Given the description of an element on the screen output the (x, y) to click on. 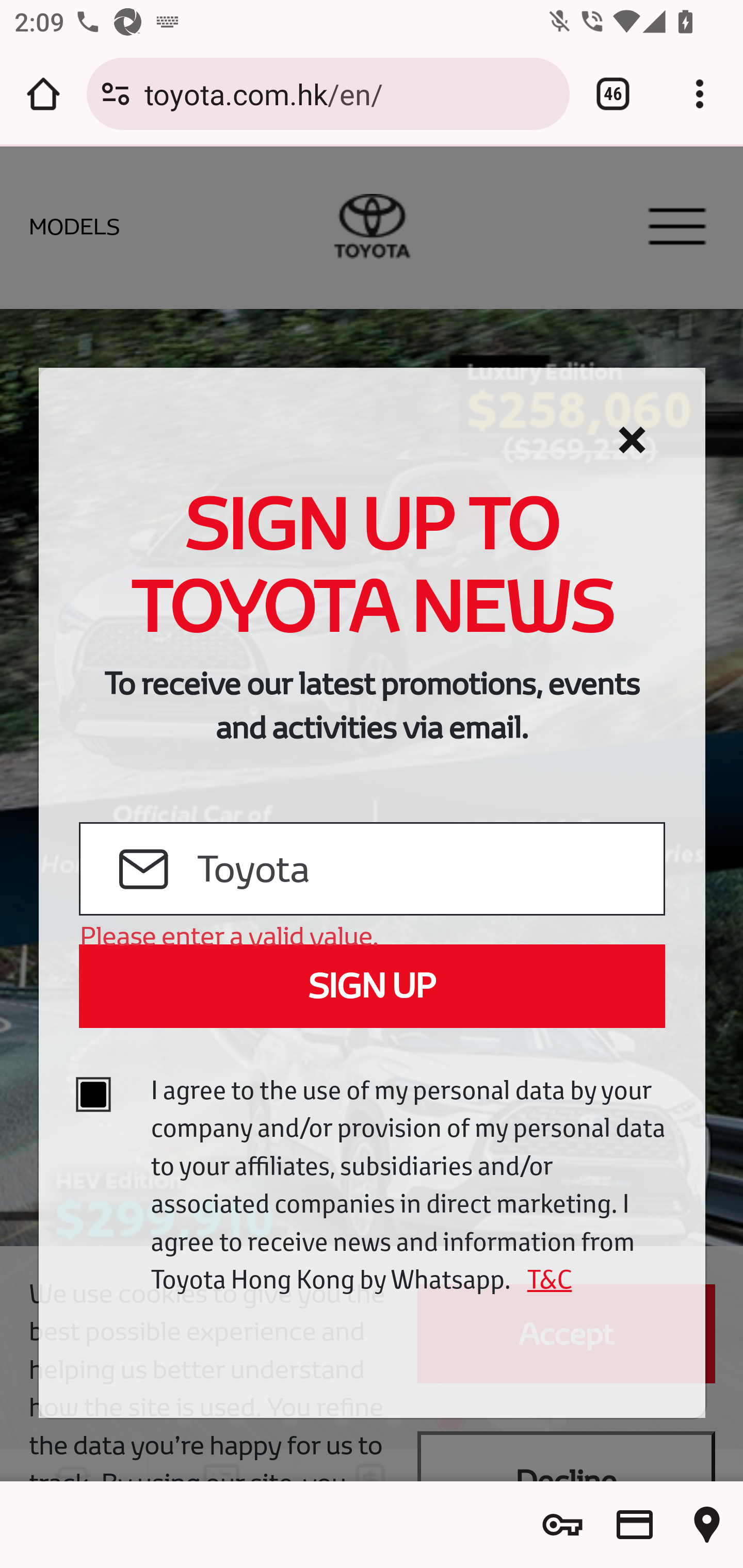
Open the home page (43, 93)
Connection is secure (115, 93)
Switch or close tabs (612, 93)
Customize and control Google Chrome (699, 93)
toyota.com.hk/en/ (349, 92)
Cerrar (631, 440)
Toyota (429, 869)
SIGN UP (371, 985)
T&C (543, 1279)
Show saved passwords and password options (562, 1524)
Show saved payment methods (634, 1524)
Show saved addresses (706, 1524)
